Given the description of an element on the screen output the (x, y) to click on. 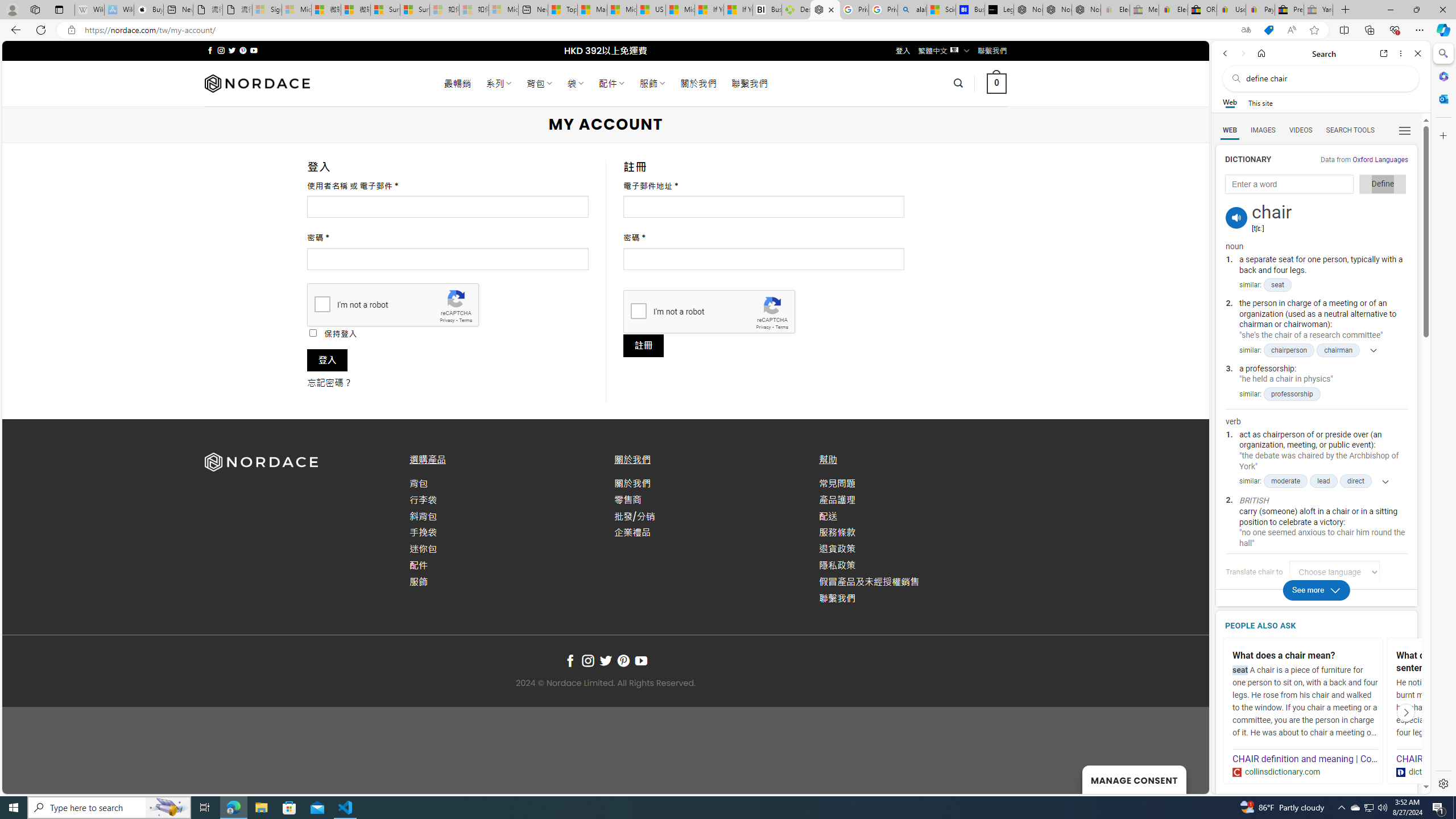
Click to scroll right (1405, 711)
